Given the description of an element on the screen output the (x, y) to click on. 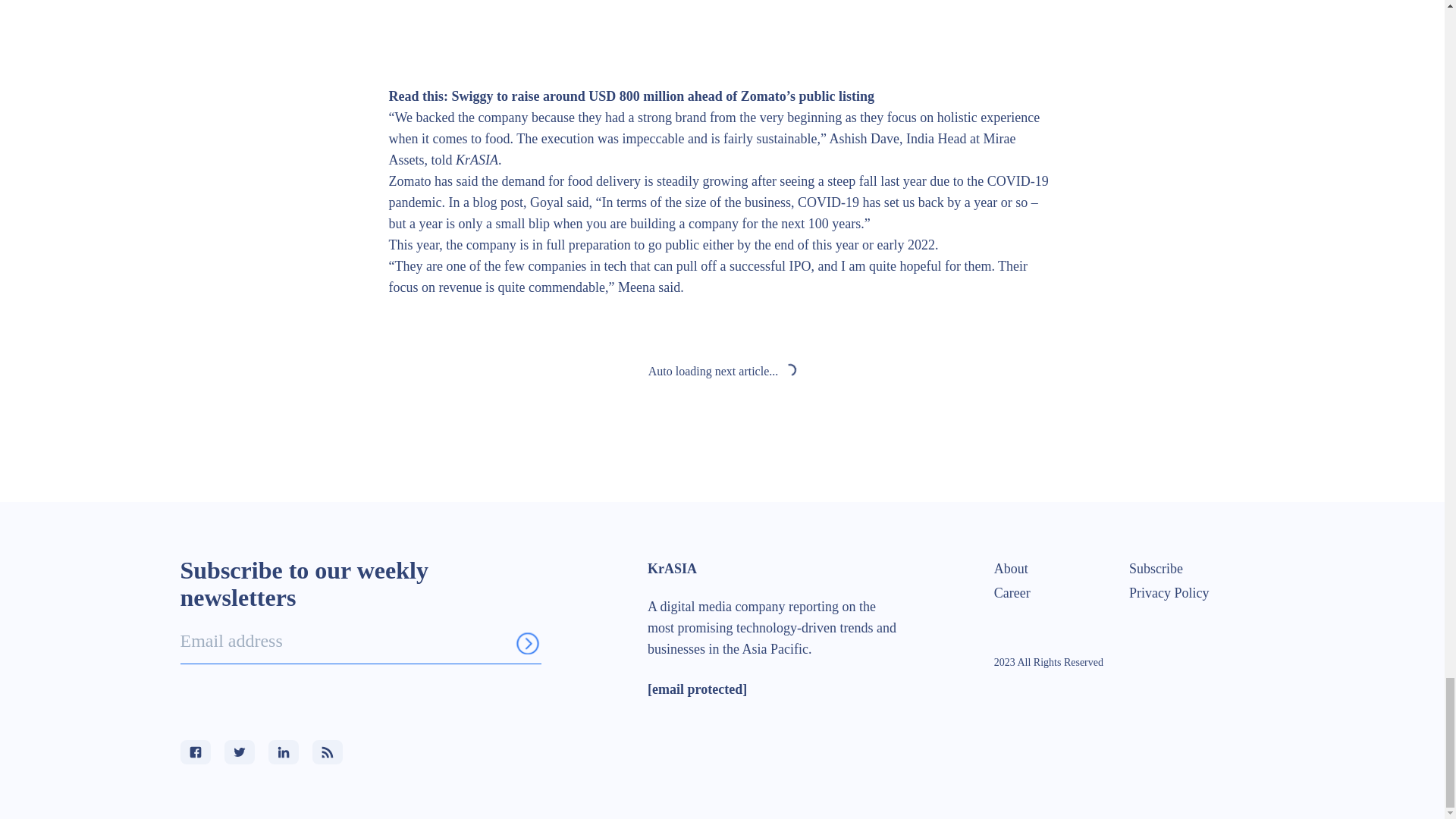
blog post (496, 201)
demand for food delivery is steadily growing (624, 181)
